Given the description of an element on the screen output the (x, y) to click on. 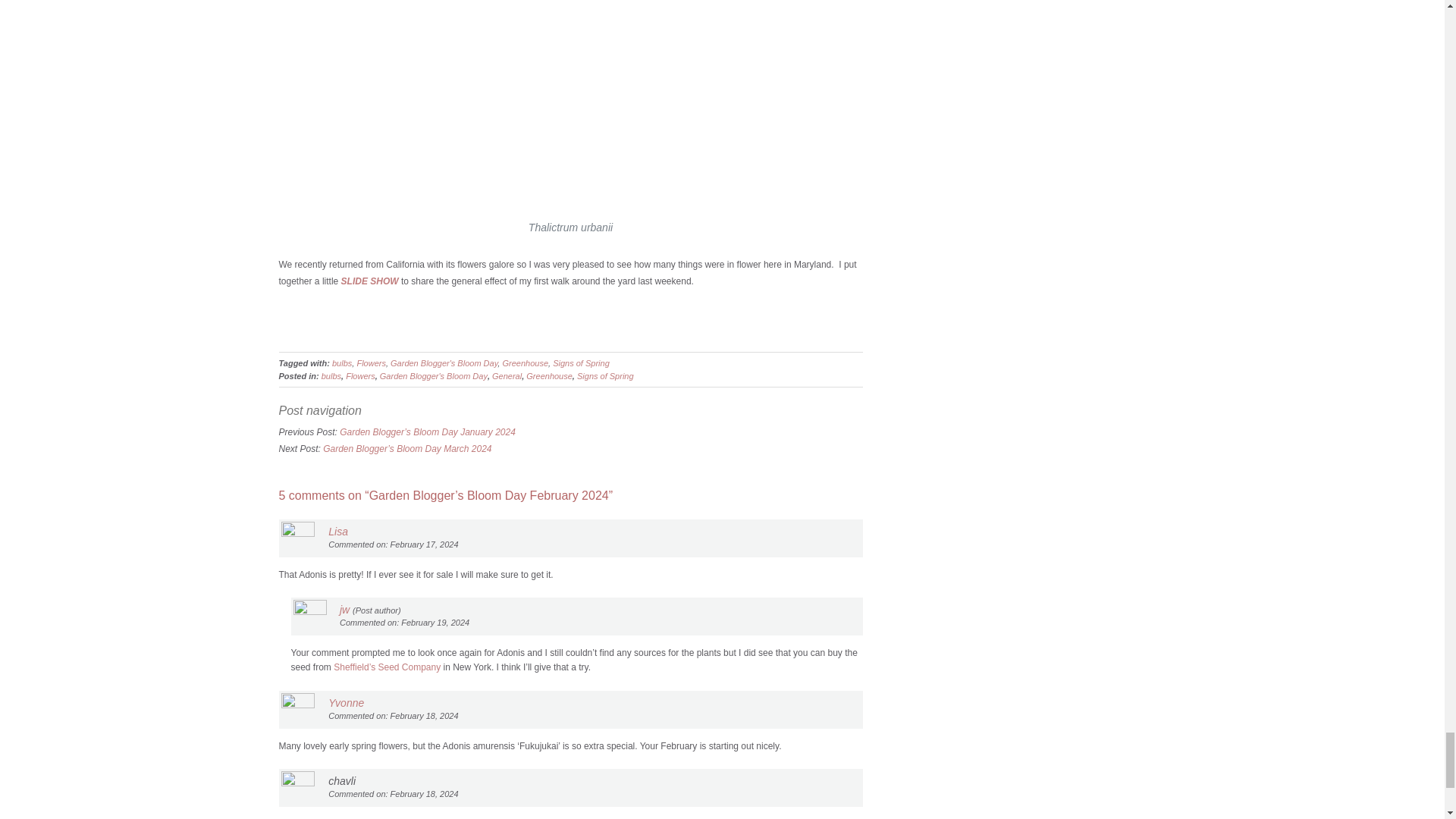
Greenhouse (548, 375)
General (506, 375)
bulbs (341, 362)
bulbs (330, 375)
Garden Blogger's Bloom Day (443, 362)
Flowers (370, 362)
Signs of Spring (604, 375)
Flowers (360, 375)
Lisa (338, 531)
Garden Blogger's Bloom Day (433, 375)
